Given the description of an element on the screen output the (x, y) to click on. 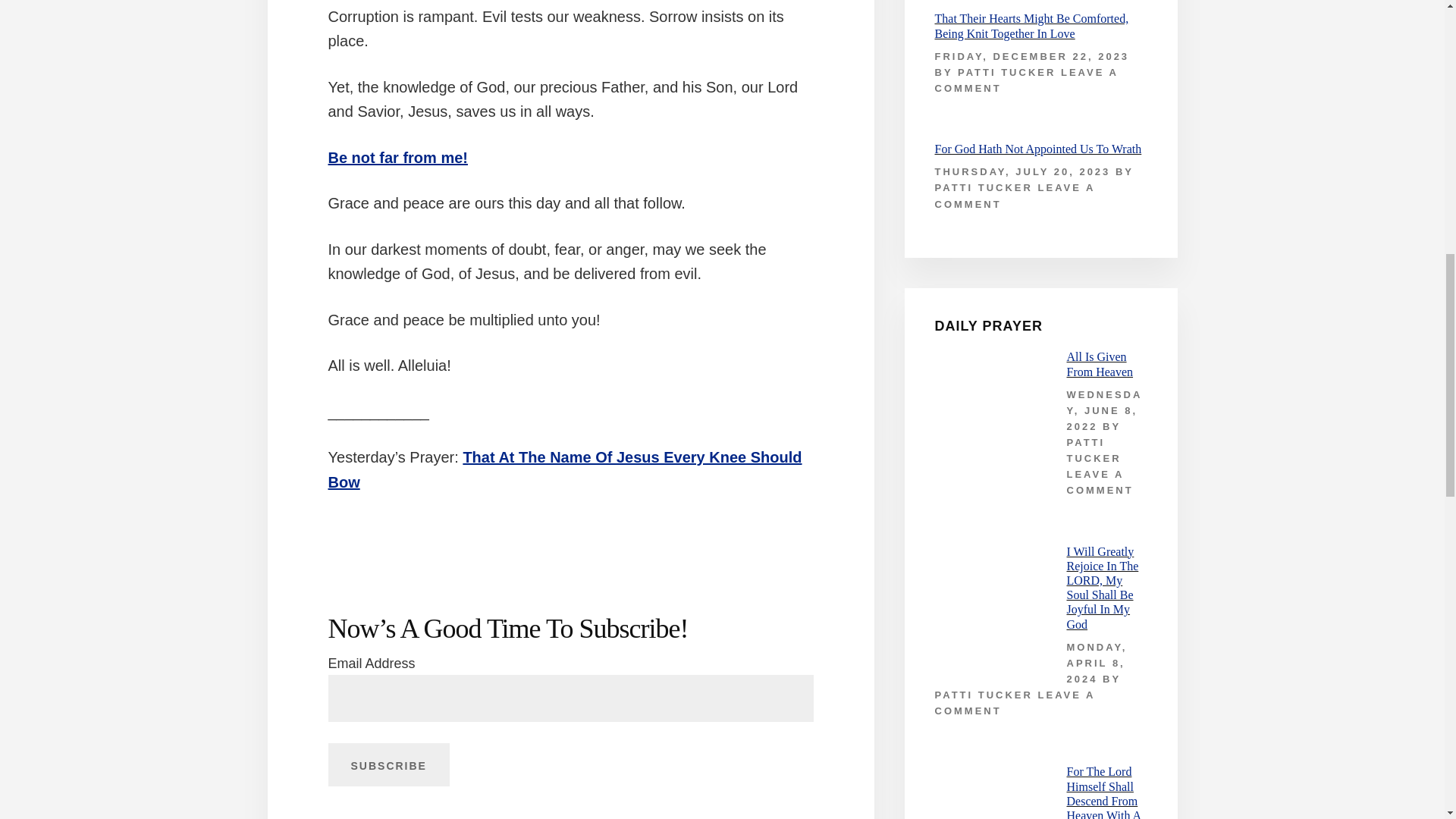
LEAVE A COMMENT (1098, 482)
PATTI TUCKER (983, 187)
For God Hath Not Appointed Us To Wrath (1037, 148)
Subscribe (387, 764)
Be not far from me! (397, 156)
PATTI TUCKER (1093, 450)
That At The Name Of Jesus Every Knee Should Bow (564, 469)
LEAVE A COMMENT (1014, 195)
All Is Given From Heaven (1098, 363)
PATTI TUCKER (983, 695)
PATTI TUCKER (1006, 71)
LEAVE A COMMENT (1026, 80)
LEAVE A COMMENT (1014, 702)
Subscribe (387, 764)
